Given the description of an element on the screen output the (x, y) to click on. 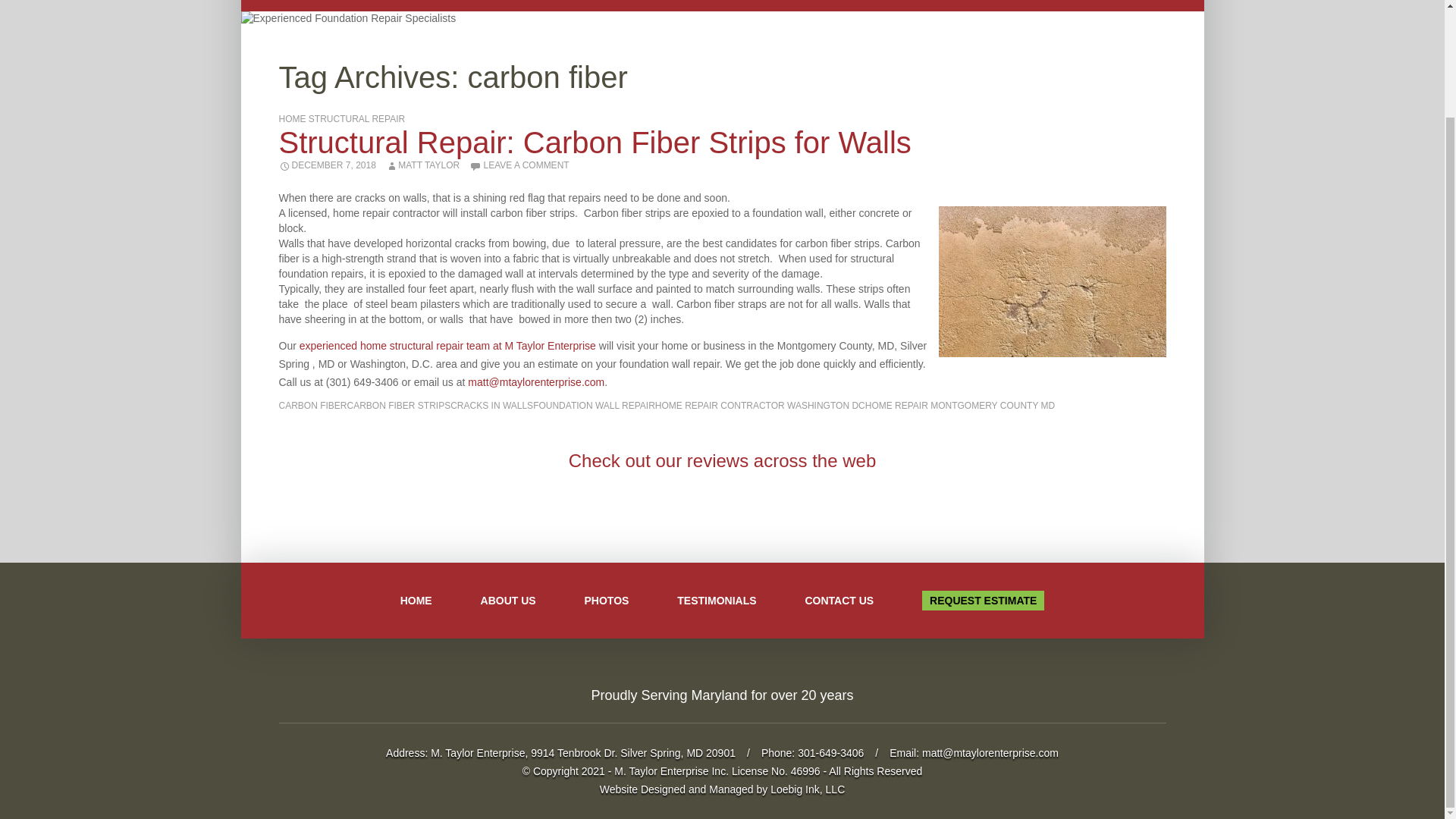
LEAVE A COMMENT (518, 164)
HOME (438, 5)
DECEMBER 7, 2018 (327, 164)
ABOUT (511, 5)
HOME STRUCTURAL REPAIR (342, 118)
SERVICES (602, 5)
BLOG (865, 5)
HOME (416, 600)
HOME REPAIR MONTGOMERY COUNTY MD (959, 405)
MATT TAYLOR (422, 164)
FOUNDATION WALL REPAIR (593, 405)
CONTACT US (945, 5)
CRACKS IN WALLS (490, 405)
CARBON FIBER STRIPS (399, 405)
